Given the description of an element on the screen output the (x, y) to click on. 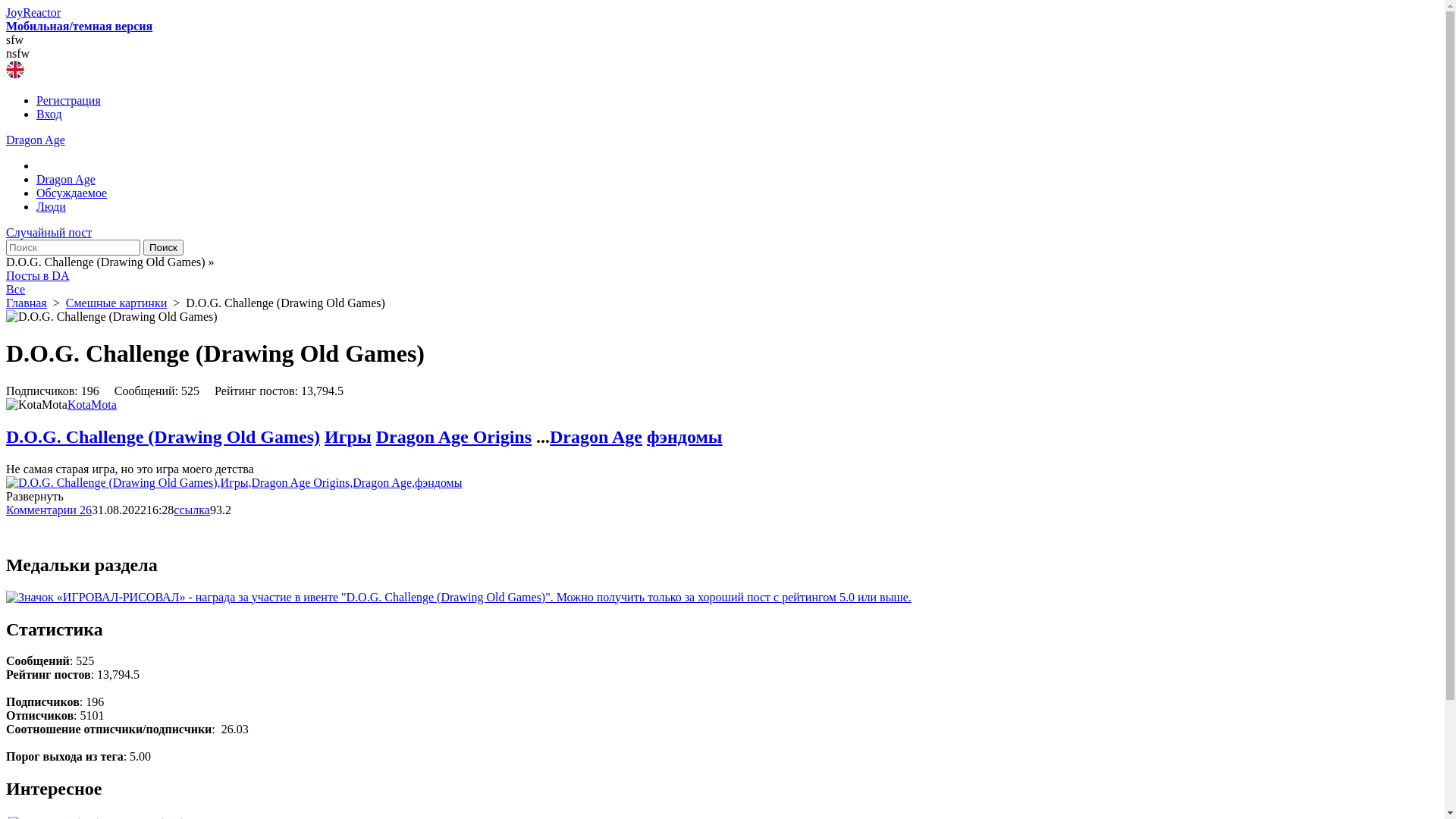
Dragon Age Element type: text (65, 178)
Dragon Age Element type: text (35, 139)
Dragon Age Origins Element type: text (453, 436)
JoyReactor Element type: text (33, 12)
Dragon Age Element type: text (595, 436)
KotaMota Element type: text (91, 404)
English version Element type: hover (15, 69)
D.O.G. Challenge (Drawing Old Games) Element type: text (163, 436)
